Given the description of an element on the screen output the (x, y) to click on. 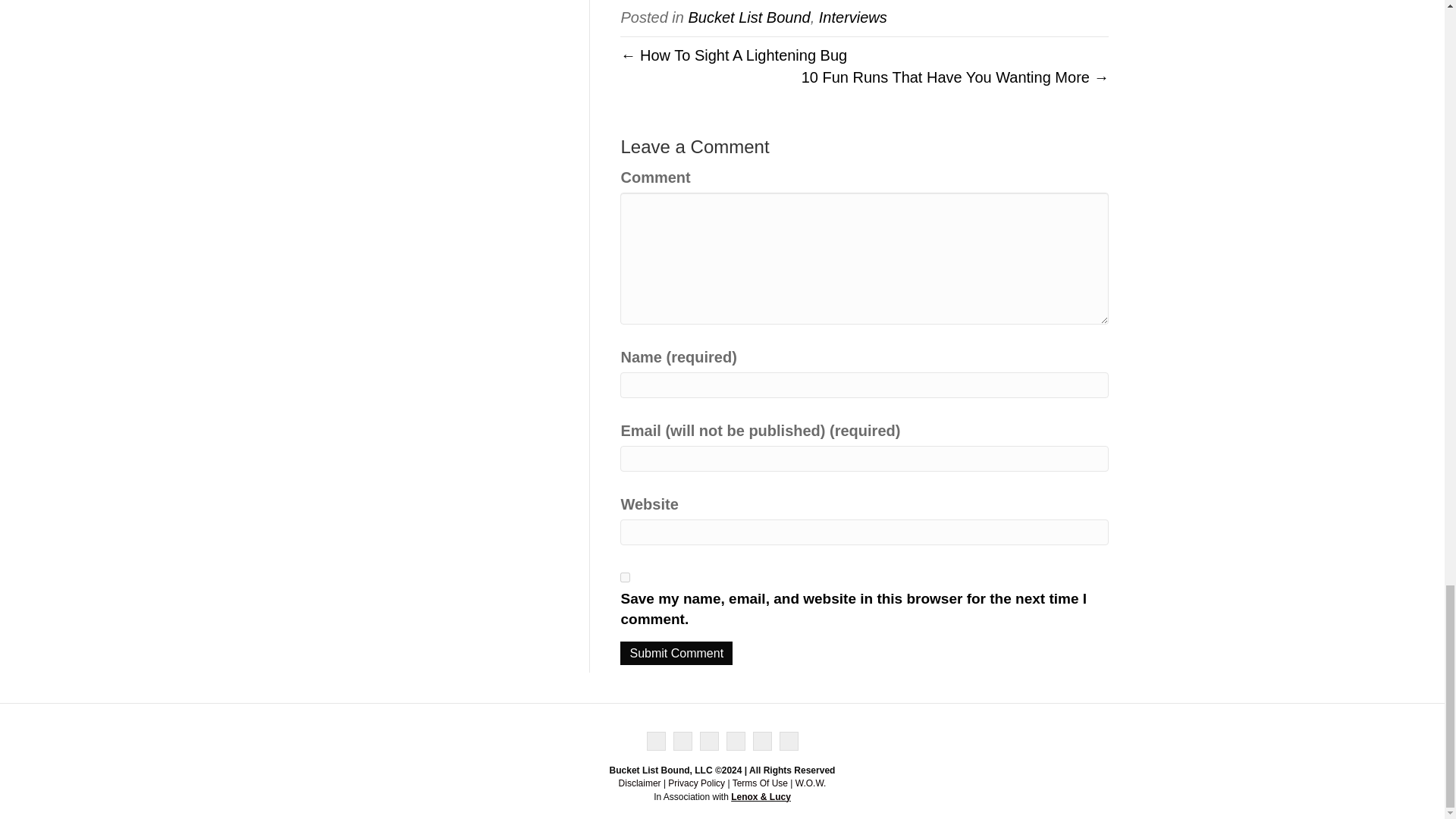
Interviews (852, 17)
Submit Comment (676, 653)
Bucket List Bound (748, 17)
yes (625, 577)
Submit Comment (676, 653)
